Given the description of an element on the screen output the (x, y) to click on. 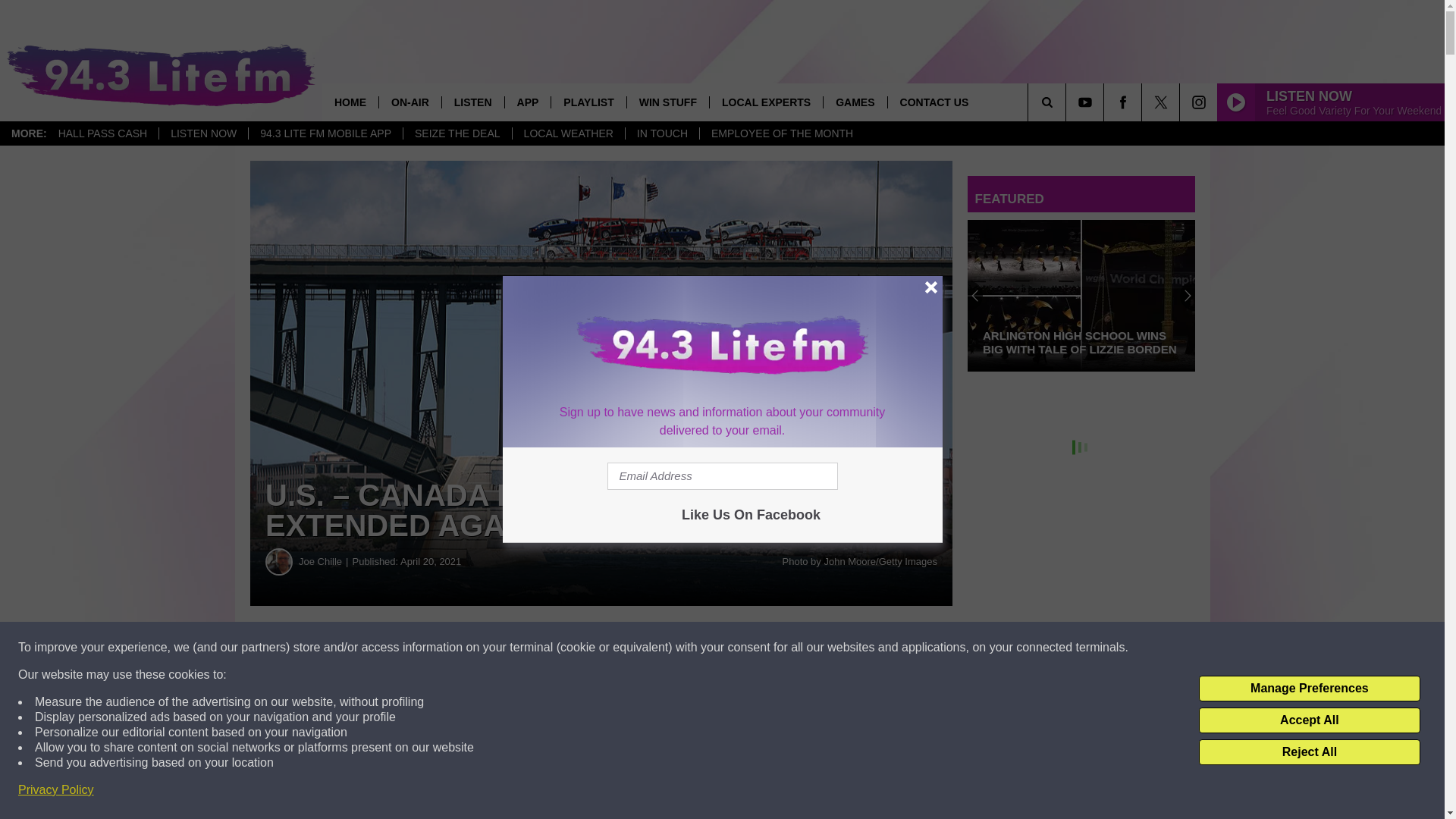
94.3 LITE FM MOBILE APP (325, 133)
IN TOUCH (661, 133)
SEARCH (1068, 102)
HOME (349, 102)
Share on Twitter (741, 647)
LISTEN (472, 102)
CONTACT US (933, 102)
EMPLOYEE OF THE MONTH (781, 133)
GAMES (854, 102)
Reject All (1309, 751)
SEIZE THE DEAL (457, 133)
PLAYLIST (588, 102)
Manage Preferences (1309, 688)
Privacy Policy (55, 789)
Email Address (722, 475)
